Given the description of an element on the screen output the (x, y) to click on. 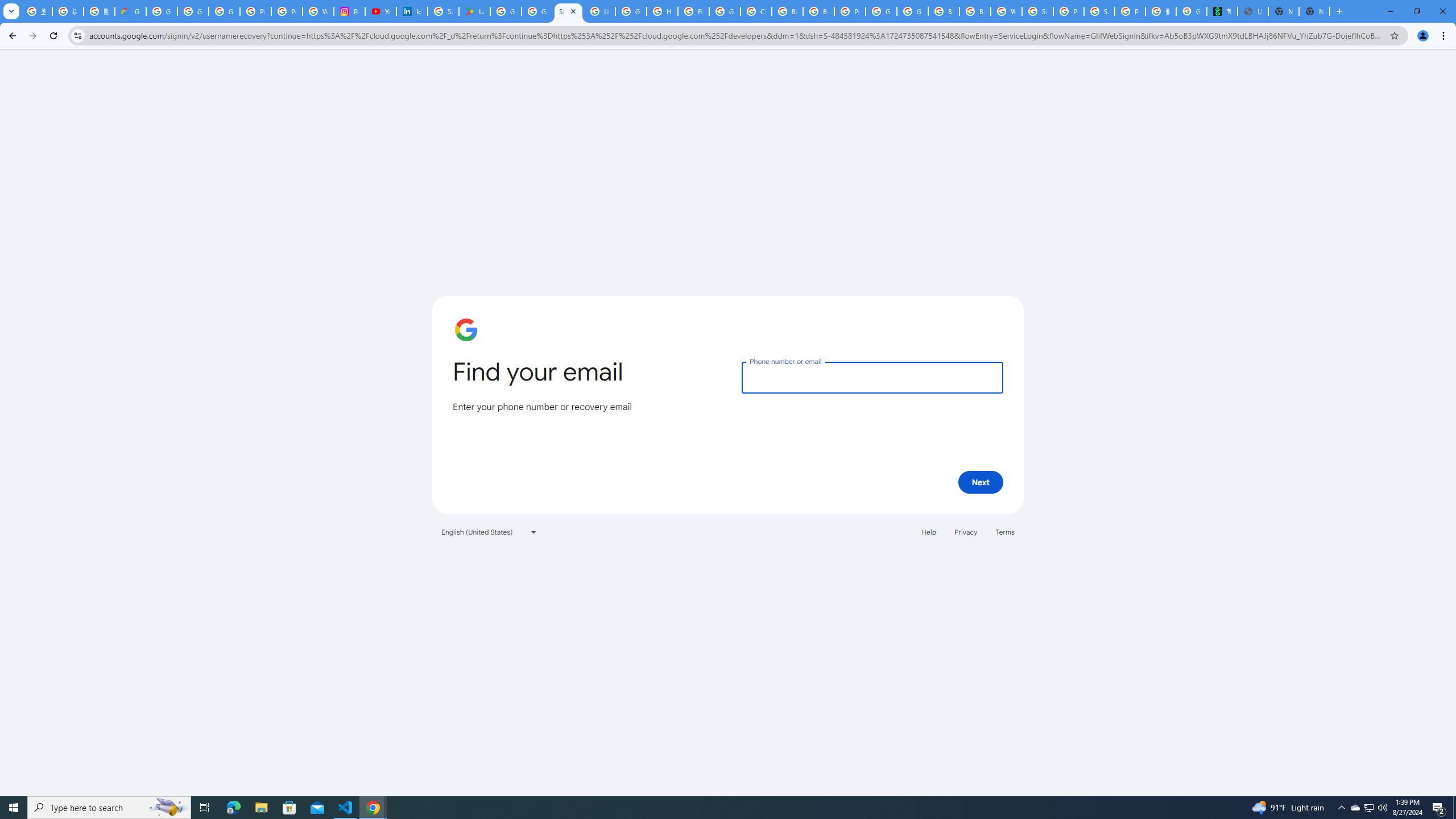
Privacy Help Center - Policies Help (286, 11)
YouTube Culture & Trends - On The Rise: Handcam Videos (380, 11)
New Tab (1314, 11)
Browse Chrome as a guest - Computer - Google Chrome Help (818, 11)
